Given the description of an element on the screen output the (x, y) to click on. 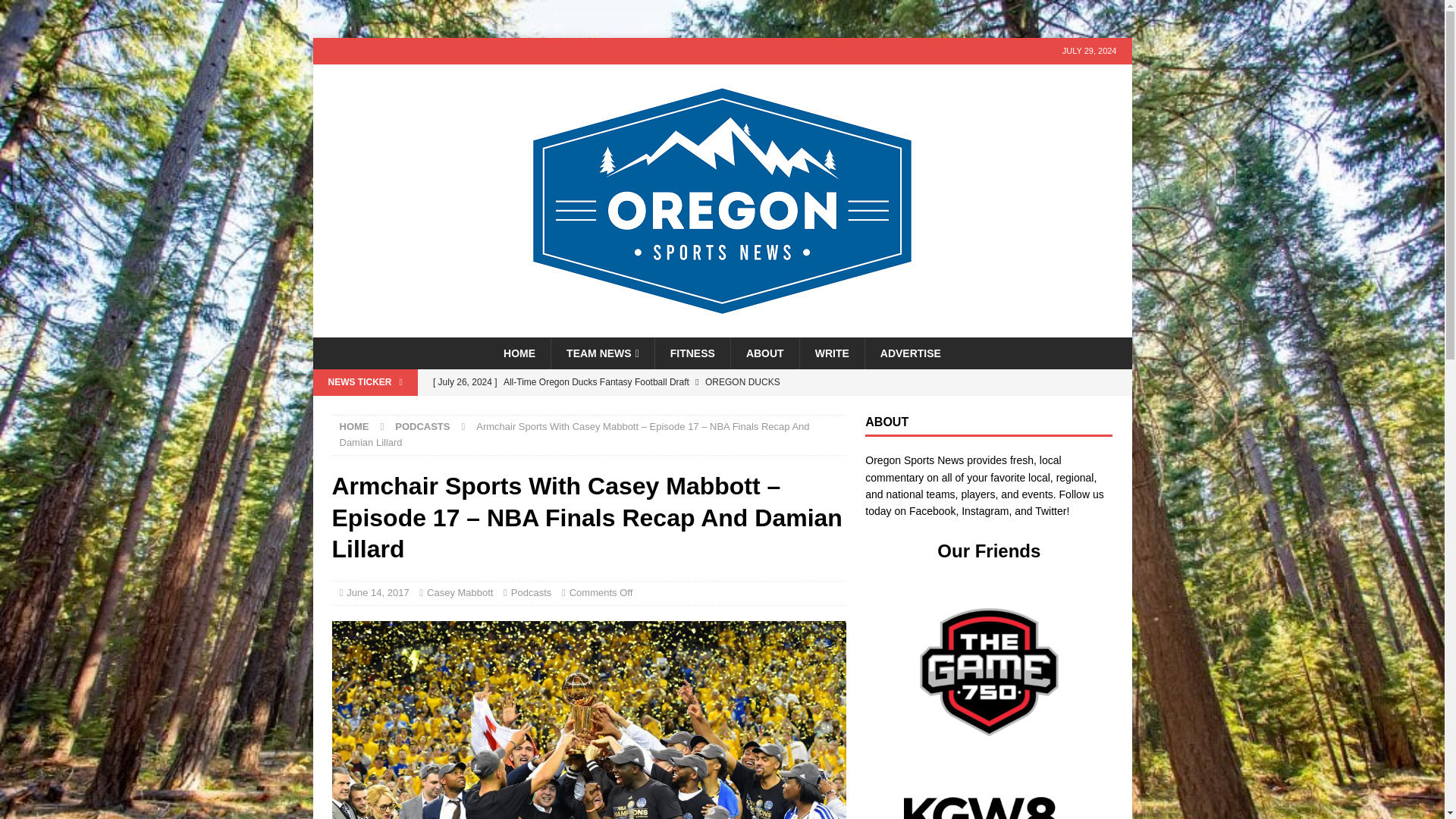
HOME (518, 353)
TEAM NEWS (601, 353)
WRITE (831, 353)
PODCASTS (421, 426)
All-Time Oregon Ducks Fantasy Football Draft (634, 381)
FITNESS (691, 353)
ADVERTISE (910, 353)
Warriors (588, 719)
HOME (354, 426)
ABOUT (764, 353)
Oregon Sports News (721, 328)
